Given the description of an element on the screen output the (x, y) to click on. 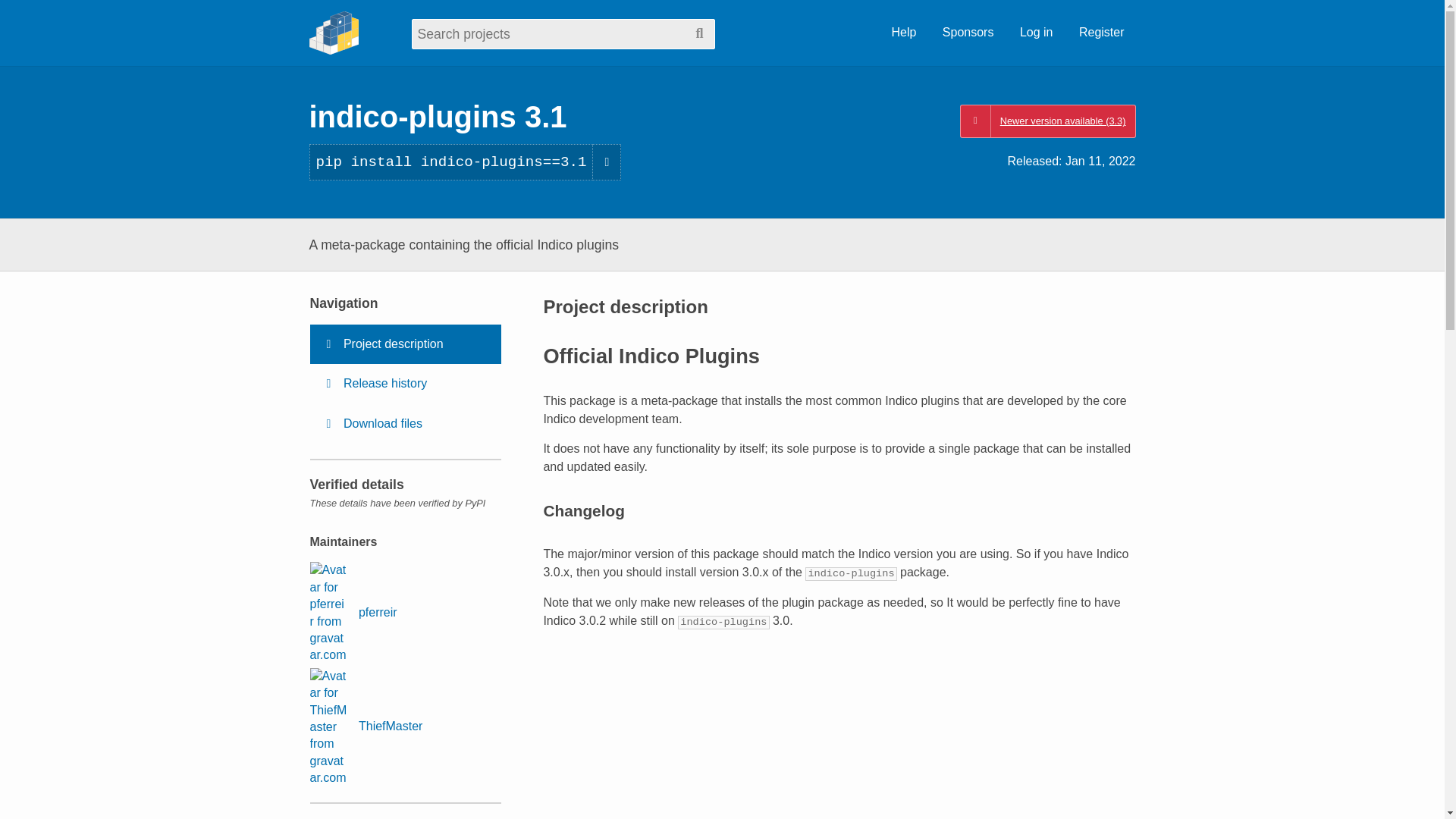
Register (1101, 32)
Copy PIP instructions (606, 162)
pferreir (352, 612)
Help (903, 32)
Avatar for pferreir from gravatar.com (327, 612)
Search (699, 33)
Project description (404, 343)
Avatar for ThiefMaster from gravatar.com (327, 727)
ThiefMaster (365, 727)
Release history (404, 383)
Sponsors (968, 32)
Download files (404, 423)
Log in (1036, 32)
